Given the description of an element on the screen output the (x, y) to click on. 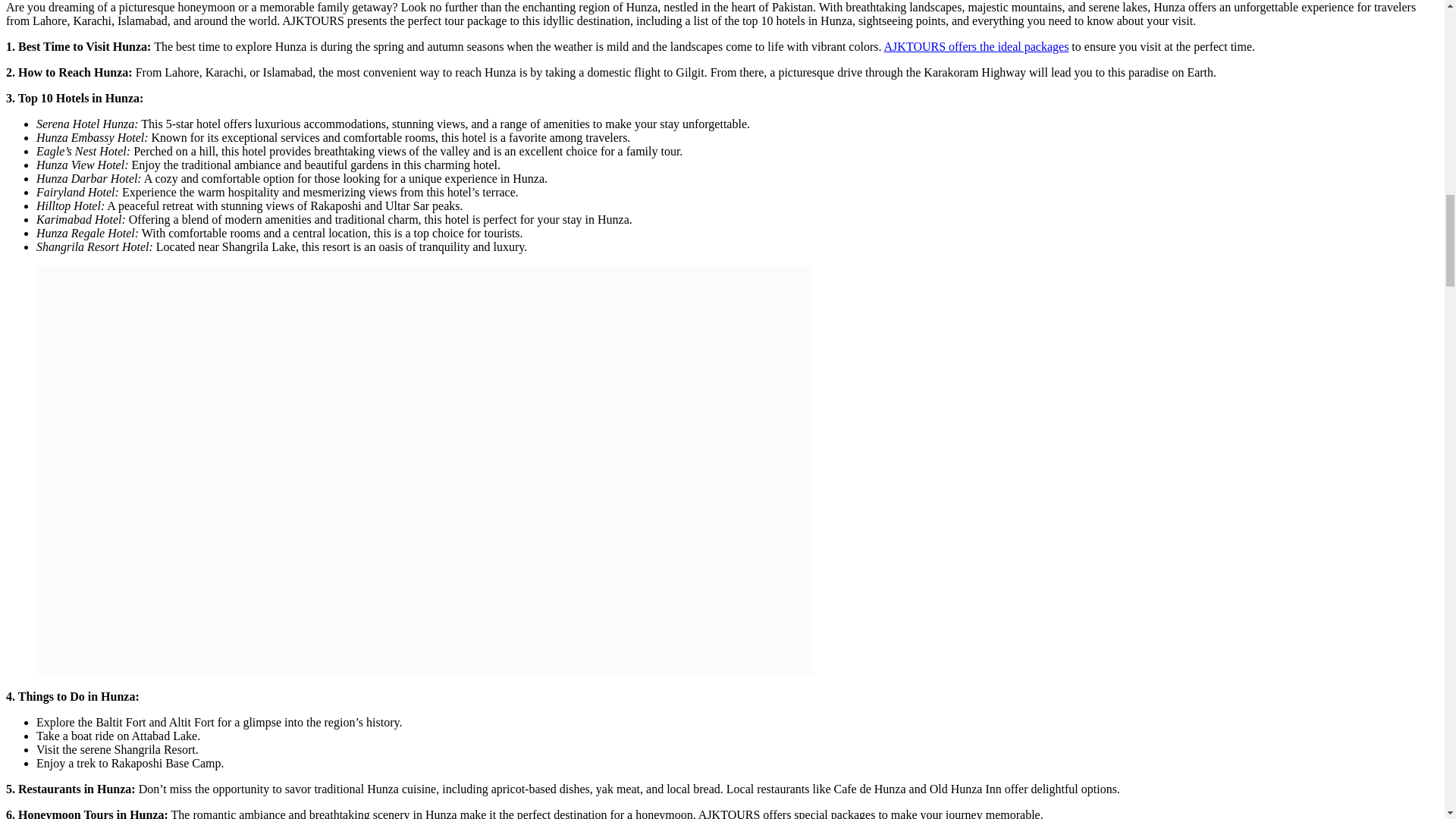
AJKTOURS offers the ideal packages (975, 46)
